Given the description of an element on the screen output the (x, y) to click on. 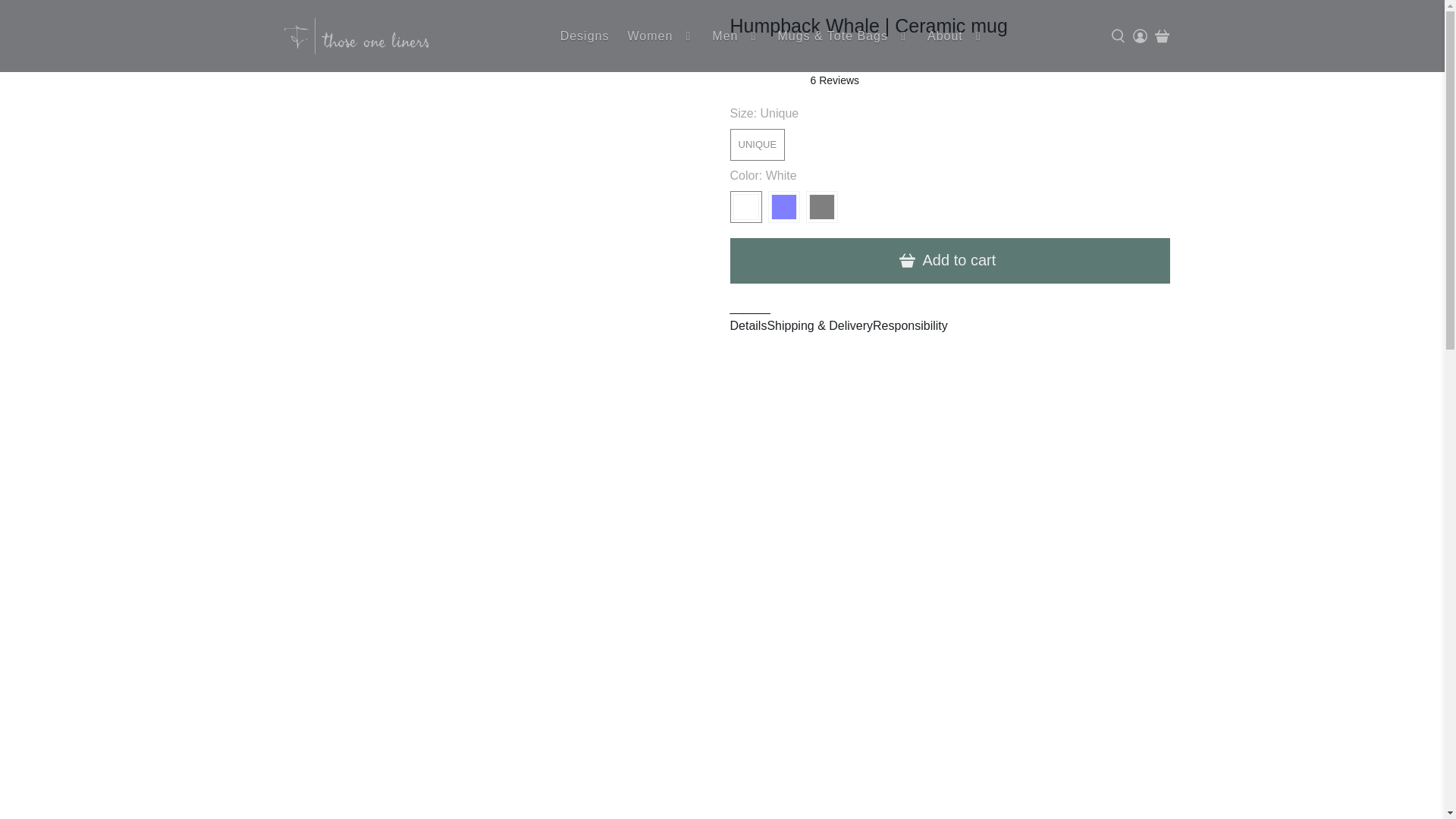
Those One Liners  (355, 35)
Women (660, 36)
Men (735, 36)
Designs (584, 36)
About (955, 36)
